Given the description of an element on the screen output the (x, y) to click on. 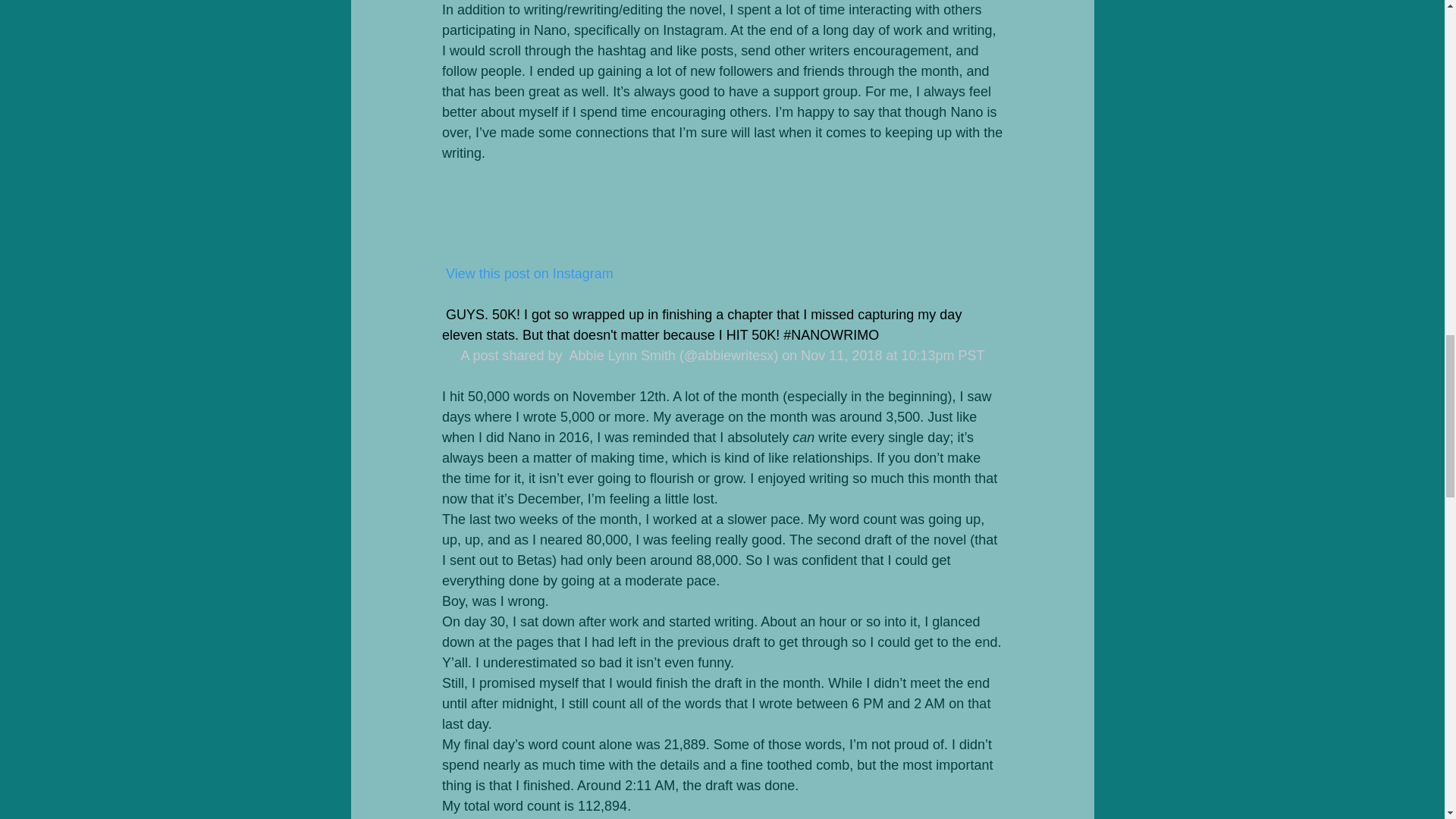
 Abbie Lynn Smith (620, 355)
 View this post on Instagram (526, 273)
